Given the description of an element on the screen output the (x, y) to click on. 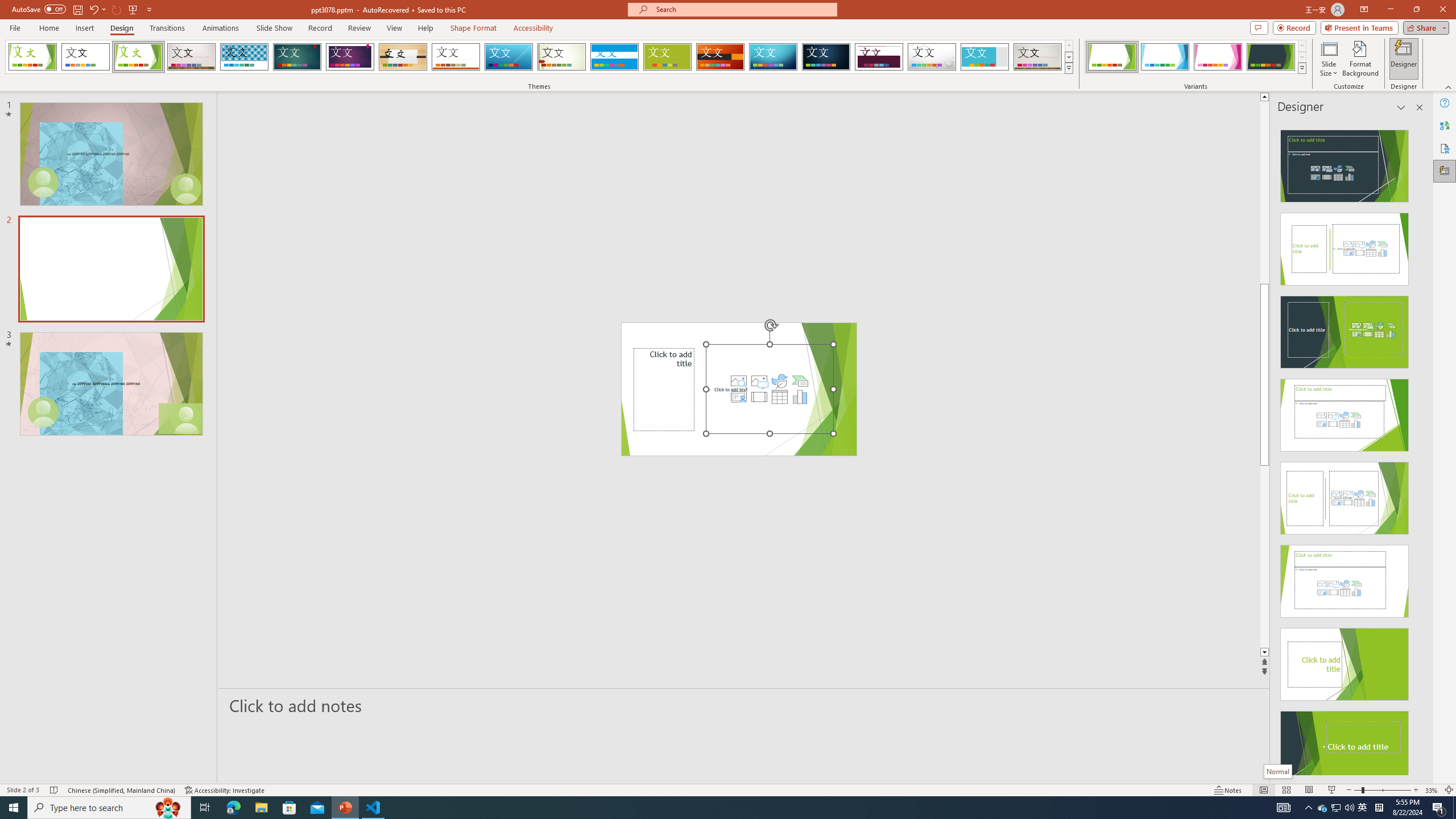
Ion (296, 56)
Banded (614, 56)
Basis (667, 56)
Slice (508, 56)
